Given the description of an element on the screen output the (x, y) to click on. 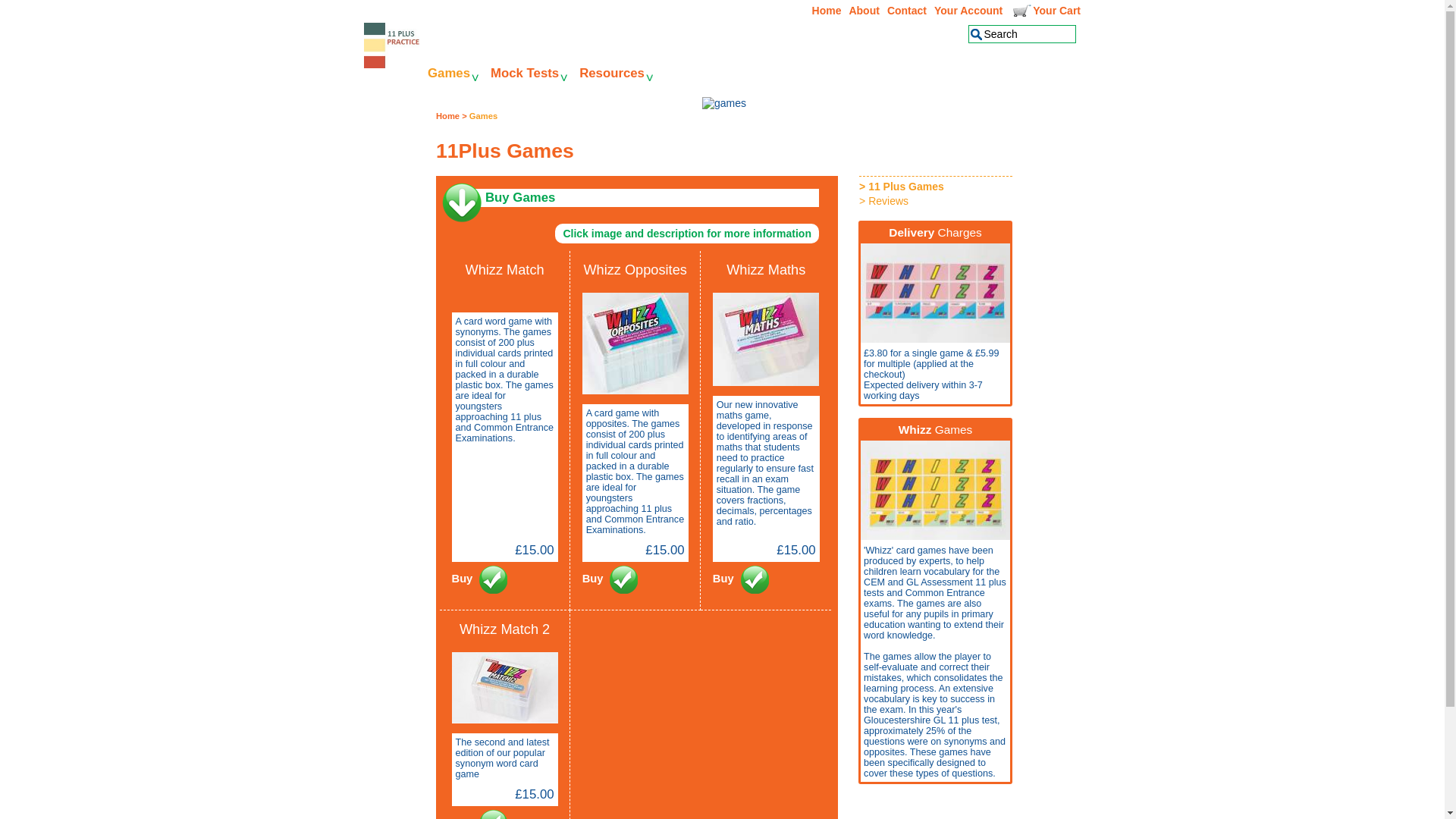
> 11 Plus Games Element type: text (940, 186)
Resources Element type: text (615, 73)
Games Element type: text (452, 73)
Home Element type: text (826, 10)
Your Cart Element type: text (1045, 10)
Mock Tests Element type: text (528, 73)
Whizz Games Element type: text (935, 429)
Search Element type: text (1021, 34)
Home Element type: text (447, 115)
Your Account Element type: text (968, 10)
games Element type: hover (724, 103)
About Element type: text (863, 10)
11 Plus Element type: hover (392, 60)
> Reviews Element type: text (940, 200)
Contact Element type: text (906, 10)
